Given the description of an element on the screen output the (x, y) to click on. 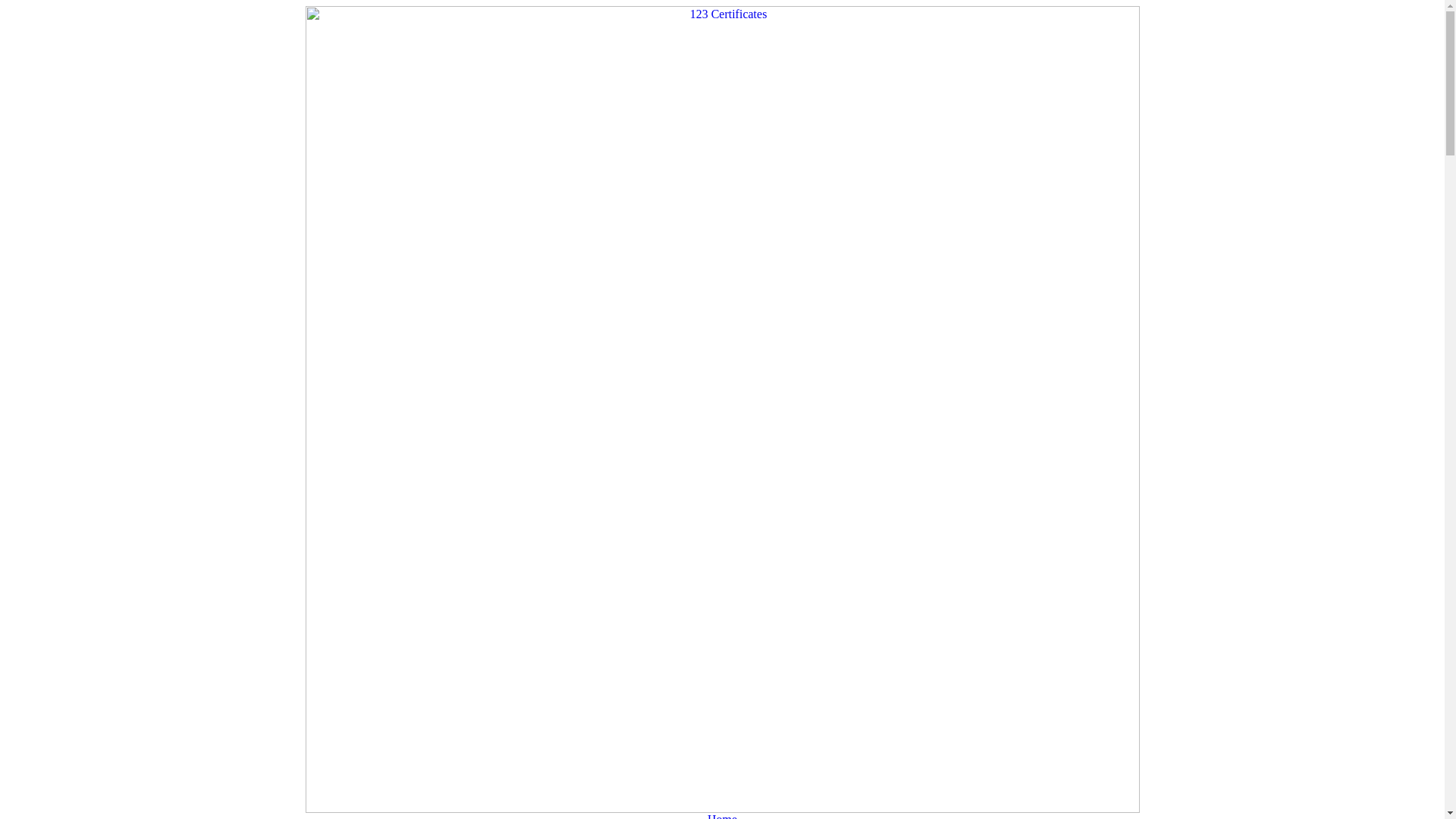
123 Certificates Element type: hover (721, 409)
